Given the description of an element on the screen output the (x, y) to click on. 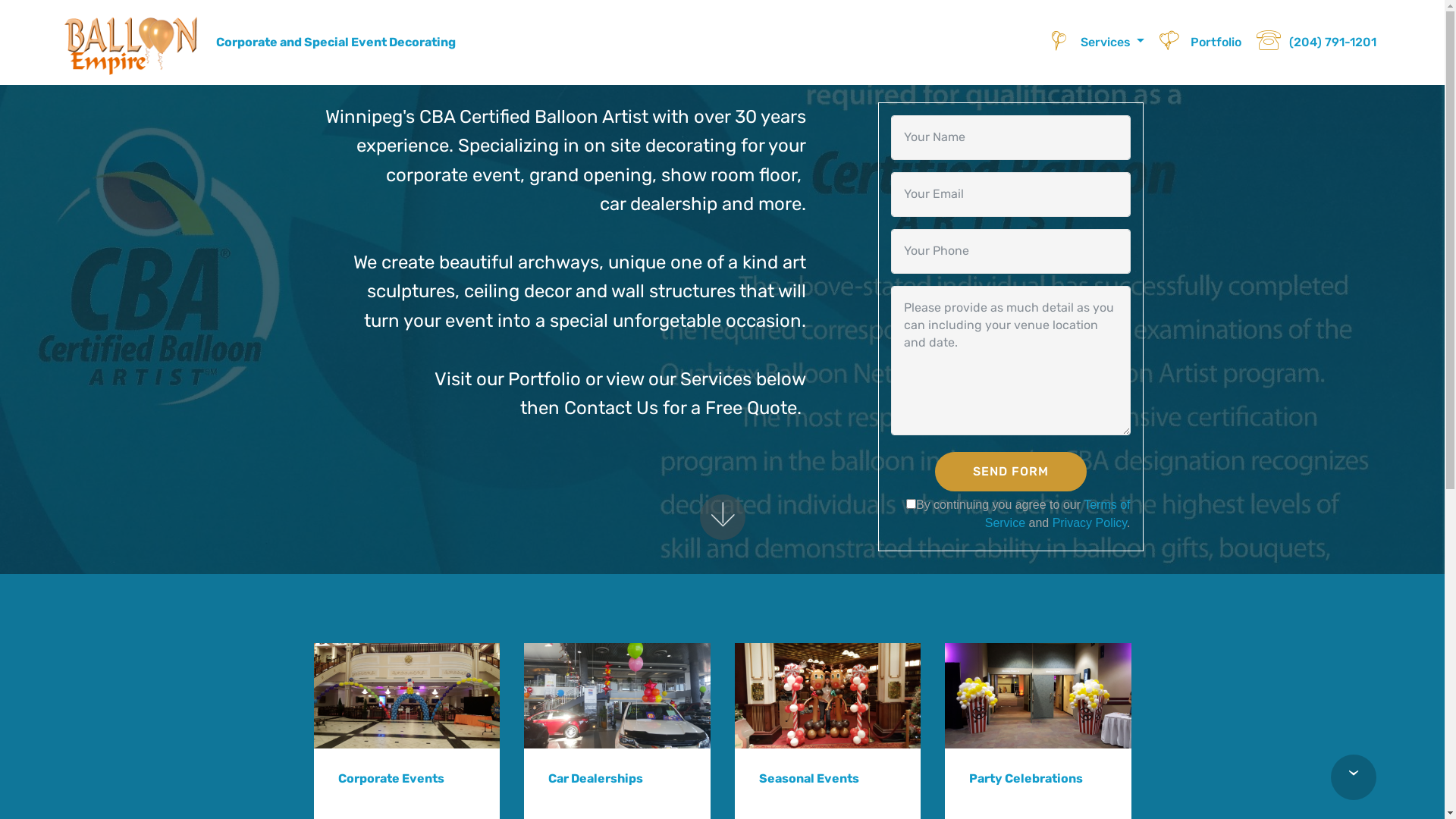
(204) 791-1201 Element type: text (1315, 41)
Privacy Policy Element type: text (1089, 522)
Portfolio Element type: text (1199, 41)
Balloon Empire and Floral Designs Element type: hover (133, 42)
Services Element type: text (1096, 41)
Clown Walk Thru Archway Element type: hover (406, 695)
Popcorn Decorations Element type: hover (1037, 695)
Car Dealership Decor Element type: hover (617, 695)
Corporate and Special Event Decorating Element type: text (348, 41)
SEND FORM Element type: text (1009, 471)
Christmas Balloon Decorations Element type: hover (827, 695)
Terms of Service Element type: text (1057, 513)
